Given the description of an element on the screen output the (x, y) to click on. 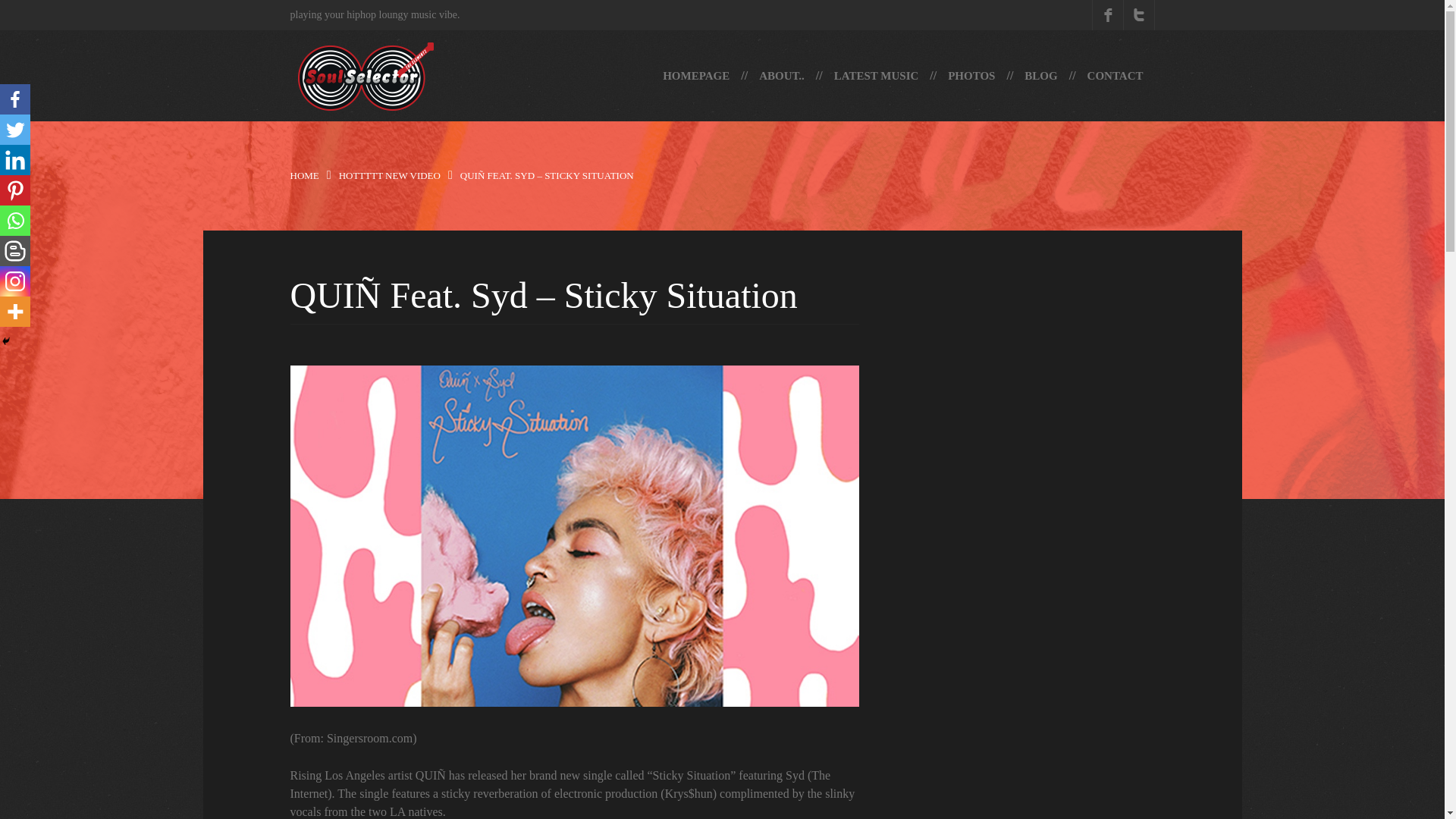
HOMEPAGE (695, 75)
More (15, 311)
Facebook (15, 99)
Hide (5, 340)
HOME (303, 174)
Instagram (15, 281)
Linkedin (15, 159)
Whatsapp (15, 220)
Blogger Post (15, 250)
Latest Music (876, 75)
Homepage (695, 75)
Twitter (15, 129)
Pinterest (15, 190)
LATEST MUSIC (876, 75)
HOTTTTT NEW VIDEO (390, 174)
